Given the description of an element on the screen output the (x, y) to click on. 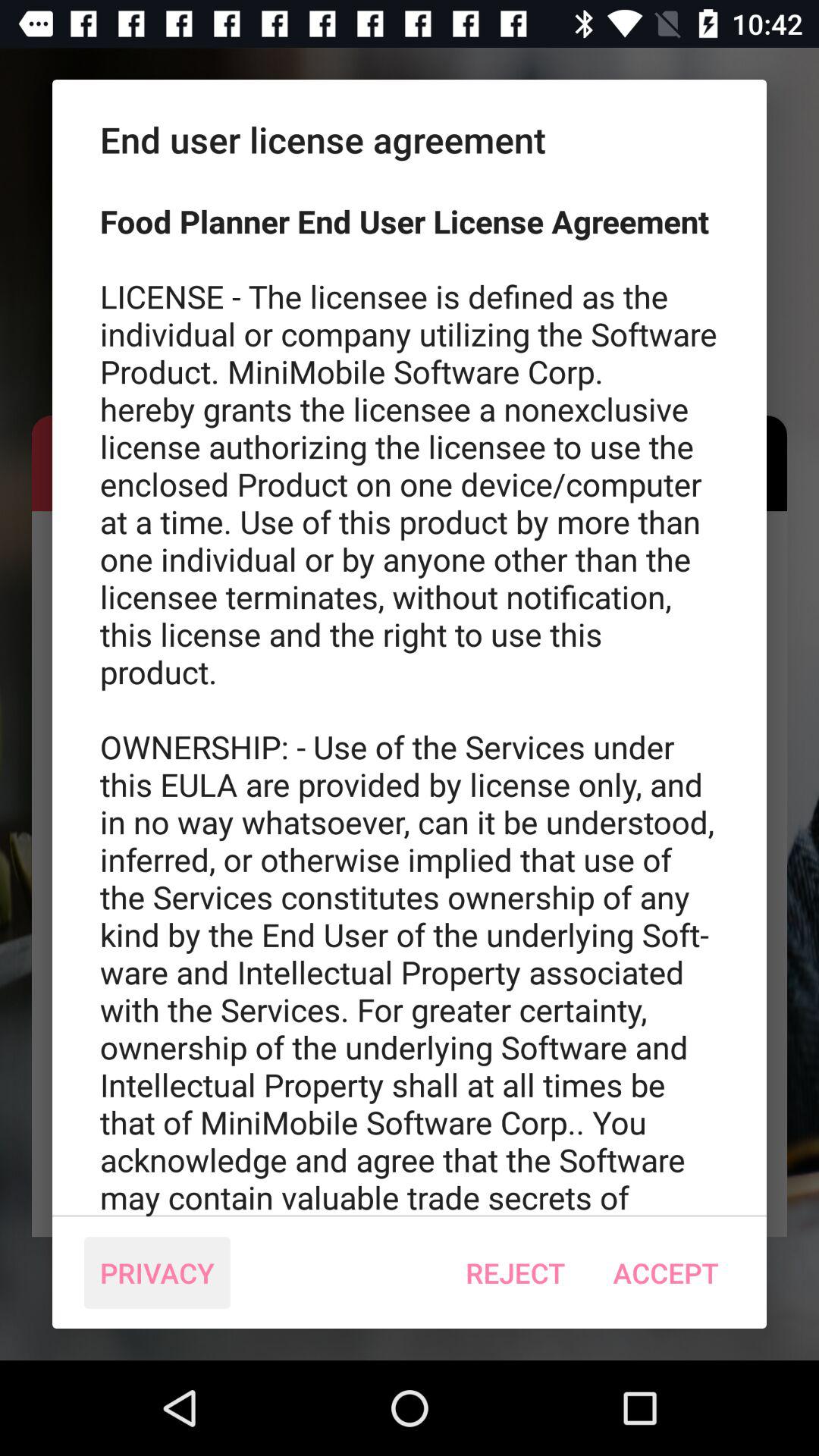
jump until the accept (665, 1272)
